Given the description of an element on the screen output the (x, y) to click on. 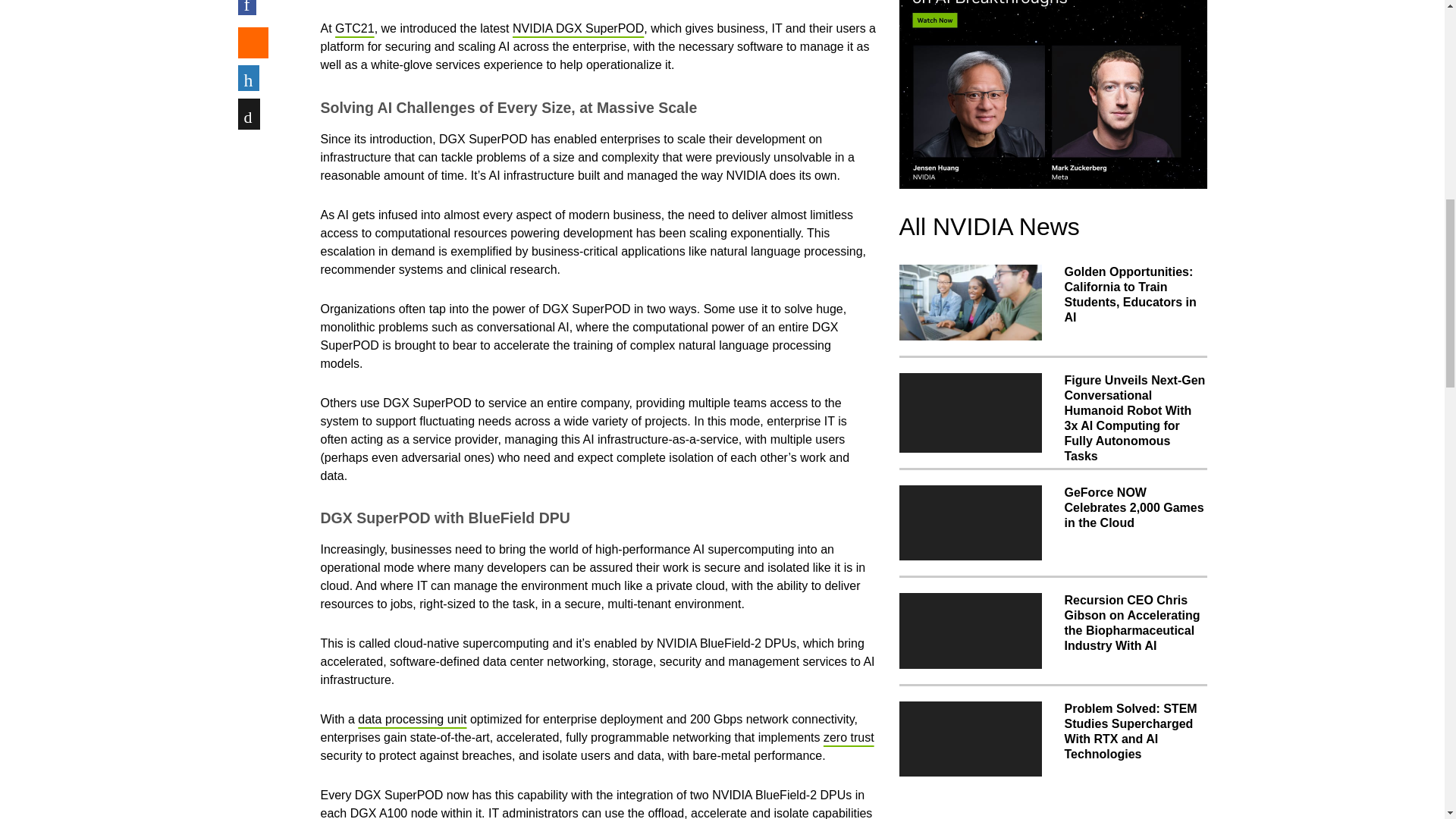
GeForce NOW Celebrates 2,000 Games in the Cloud (970, 523)
